Given the description of an element on the screen output the (x, y) to click on. 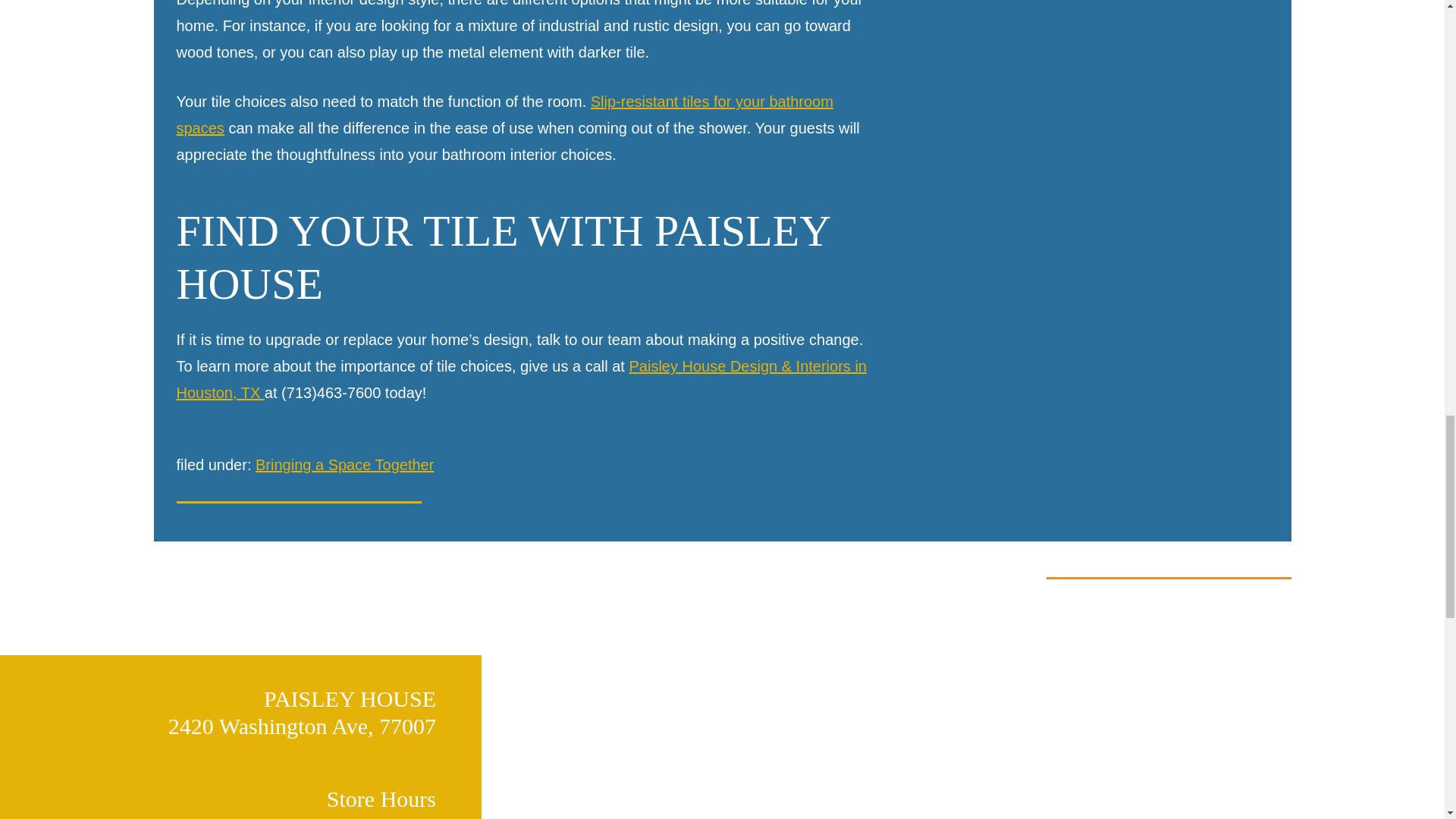
Slip-resistant tiles for your bathroom spaces (504, 114)
Bringing a Space Together (344, 464)
